Given the description of an element on the screen output the (x, y) to click on. 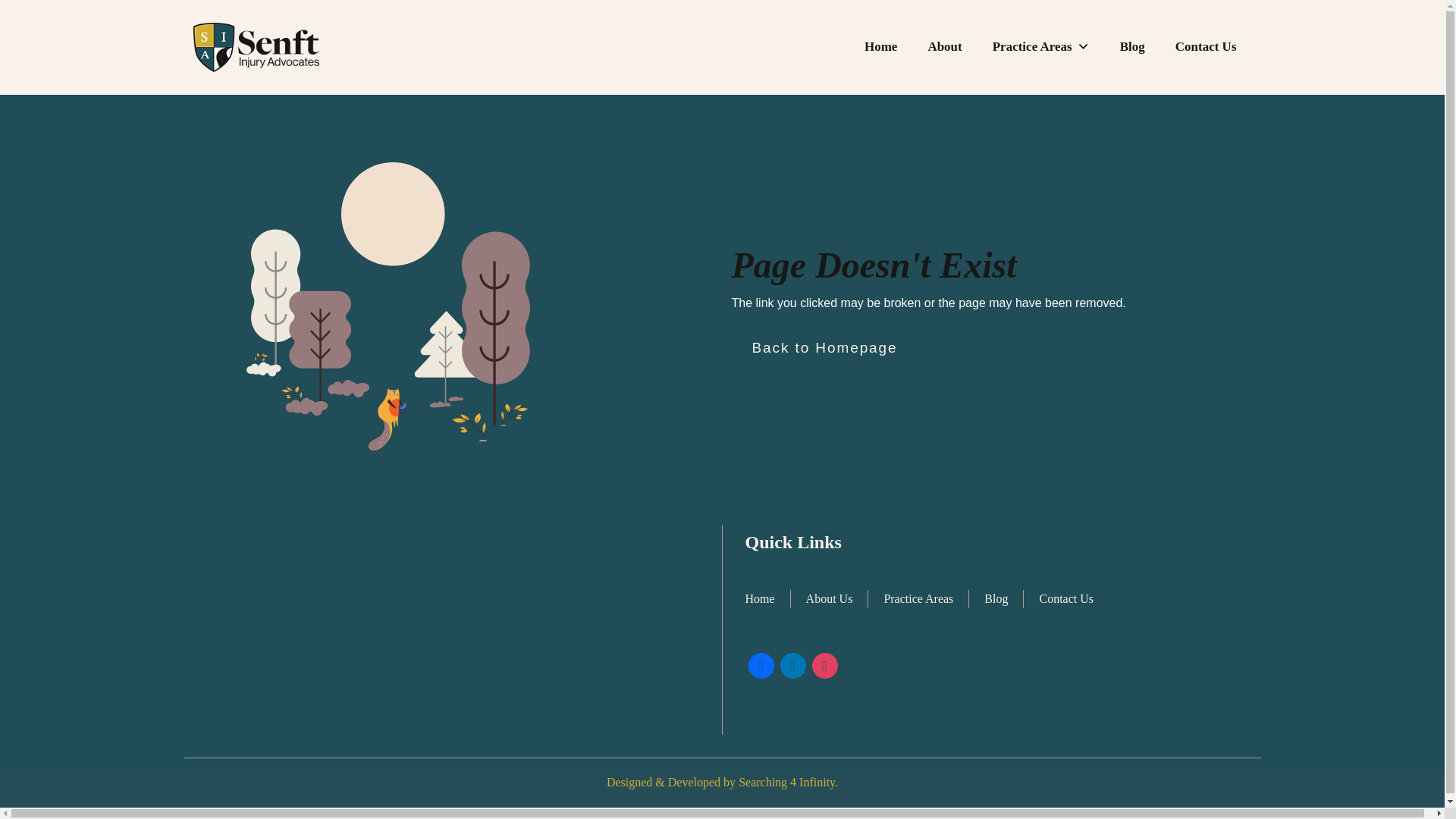
Facebook (760, 664)
Instagram (823, 664)
Practice Areas (1040, 46)
X (791, 664)
Home (880, 46)
Contact Us (1206, 46)
Blog (1132, 46)
About (944, 46)
